Given the description of an element on the screen output the (x, y) to click on. 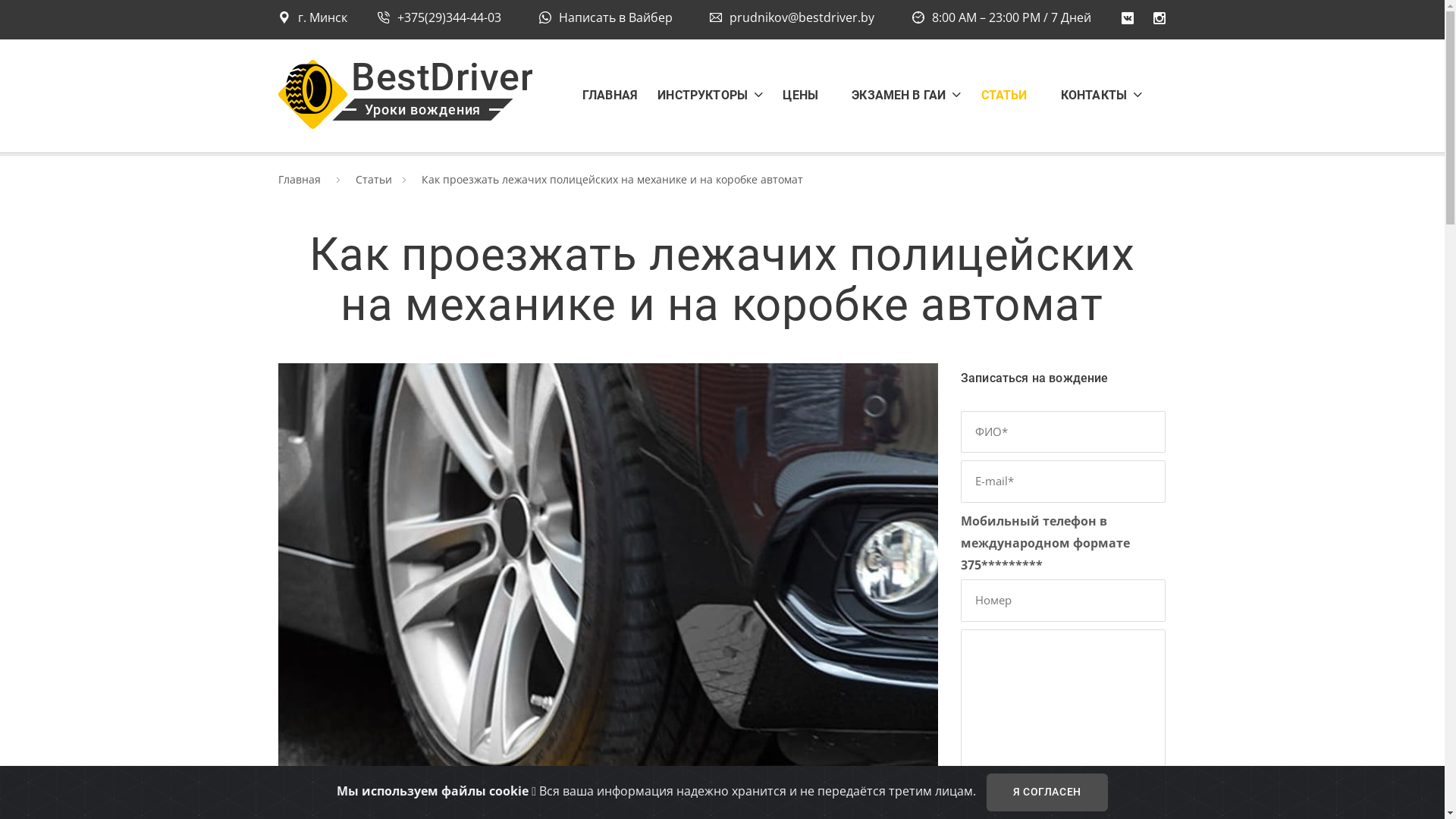
prudnikov@bestdriver.by Element type: text (791, 17)
+375(29)344-44-03 Element type: text (439, 17)
